Given the description of an element on the screen output the (x, y) to click on. 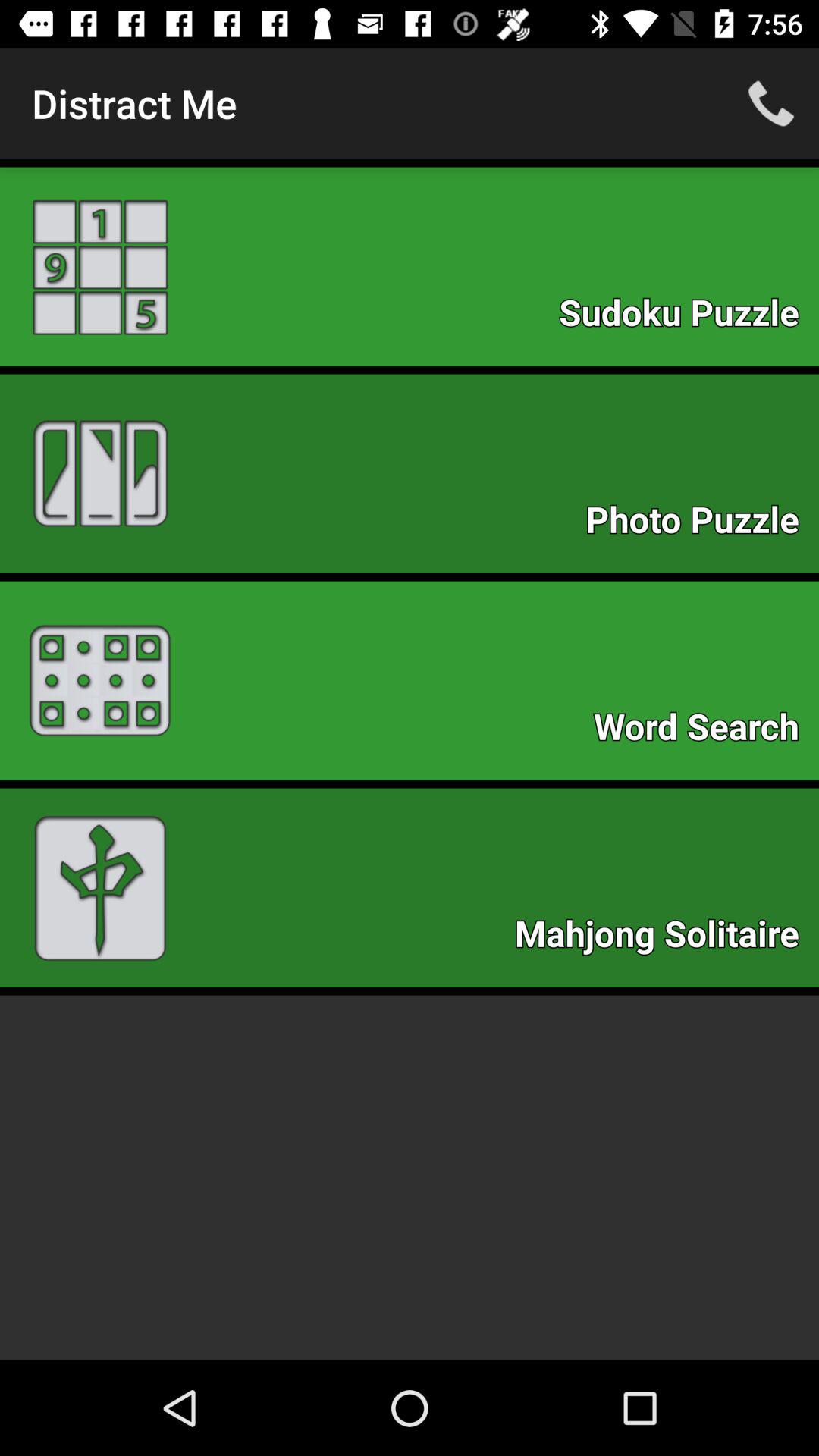
launch the icon below photo puzzle (704, 730)
